Given the description of an element on the screen output the (x, y) to click on. 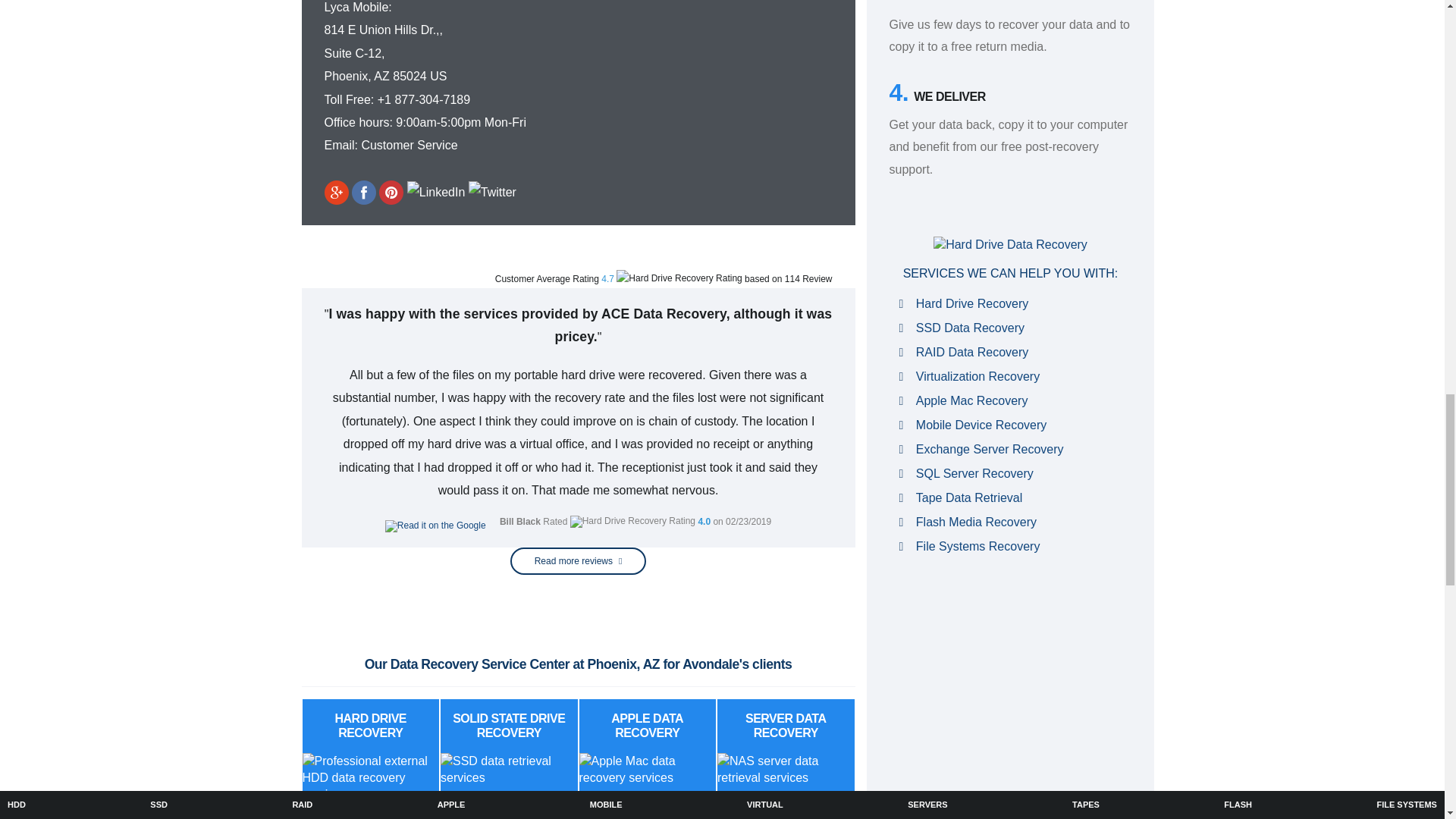
SATA, SAS, Laptop, External HDD data recovery (370, 777)
Read it on the Google (435, 526)
Servers, RAID, NAS data recovery (785, 769)
Avondale, AZ Data Recovery Services (697, 59)
